Given the description of an element on the screen output the (x, y) to click on. 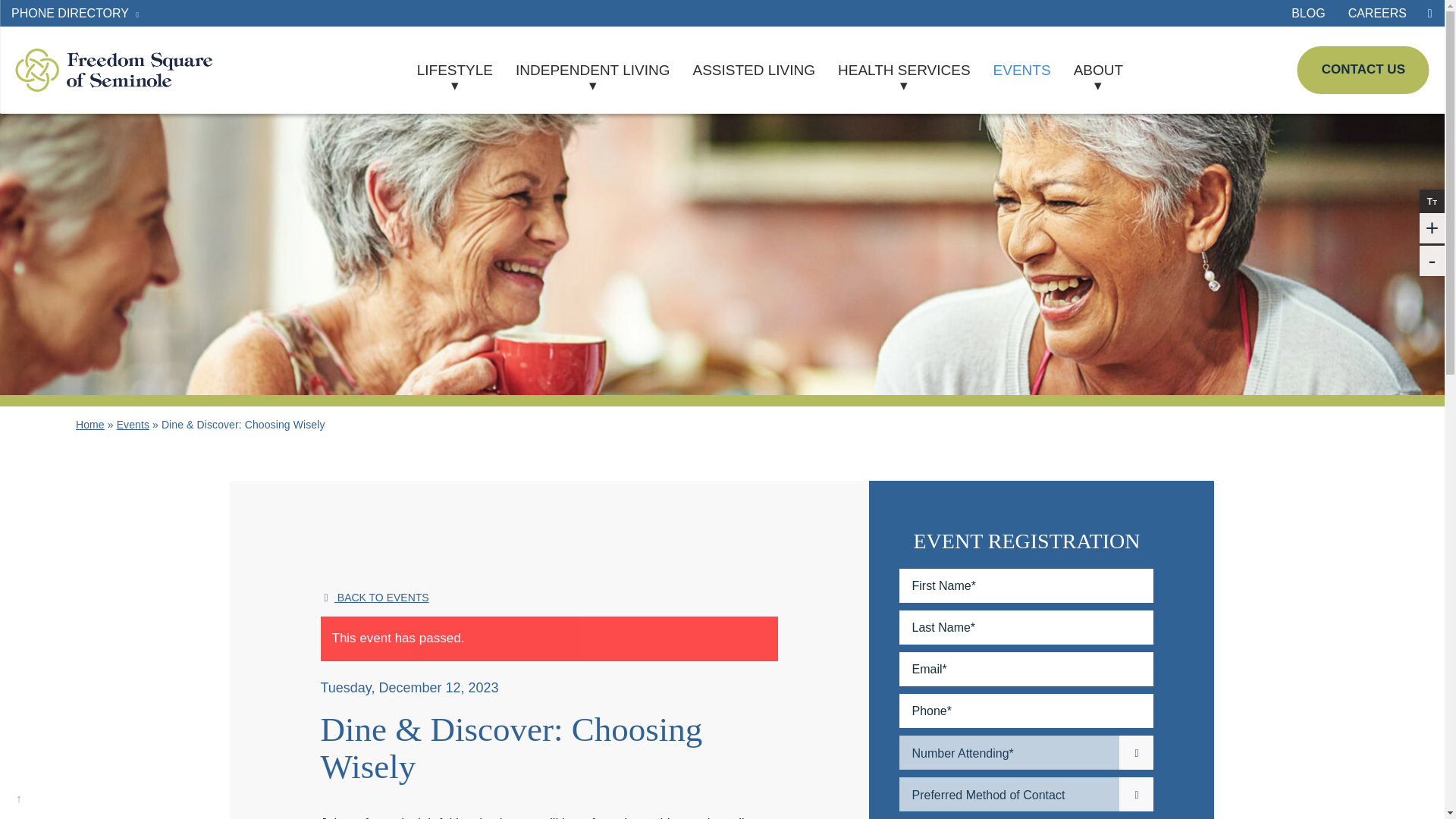
Home (89, 424)
BLOG (1307, 13)
CONTACT US (1363, 69)
HEALTH SERVICES (904, 70)
link back to top of page (18, 799)
CAREERS (1377, 13)
ASSISTED LIVING (754, 70)
EVENTS (1021, 70)
INDEPENDENT LIVING (592, 70)
ABOUT (1098, 70)
Freedom Square (113, 70)
PHONE DIRECTORY (77, 13)
Contact (1363, 69)
LIFESTYLE (454, 70)
Events (132, 424)
